Given the description of an element on the screen output the (x, y) to click on. 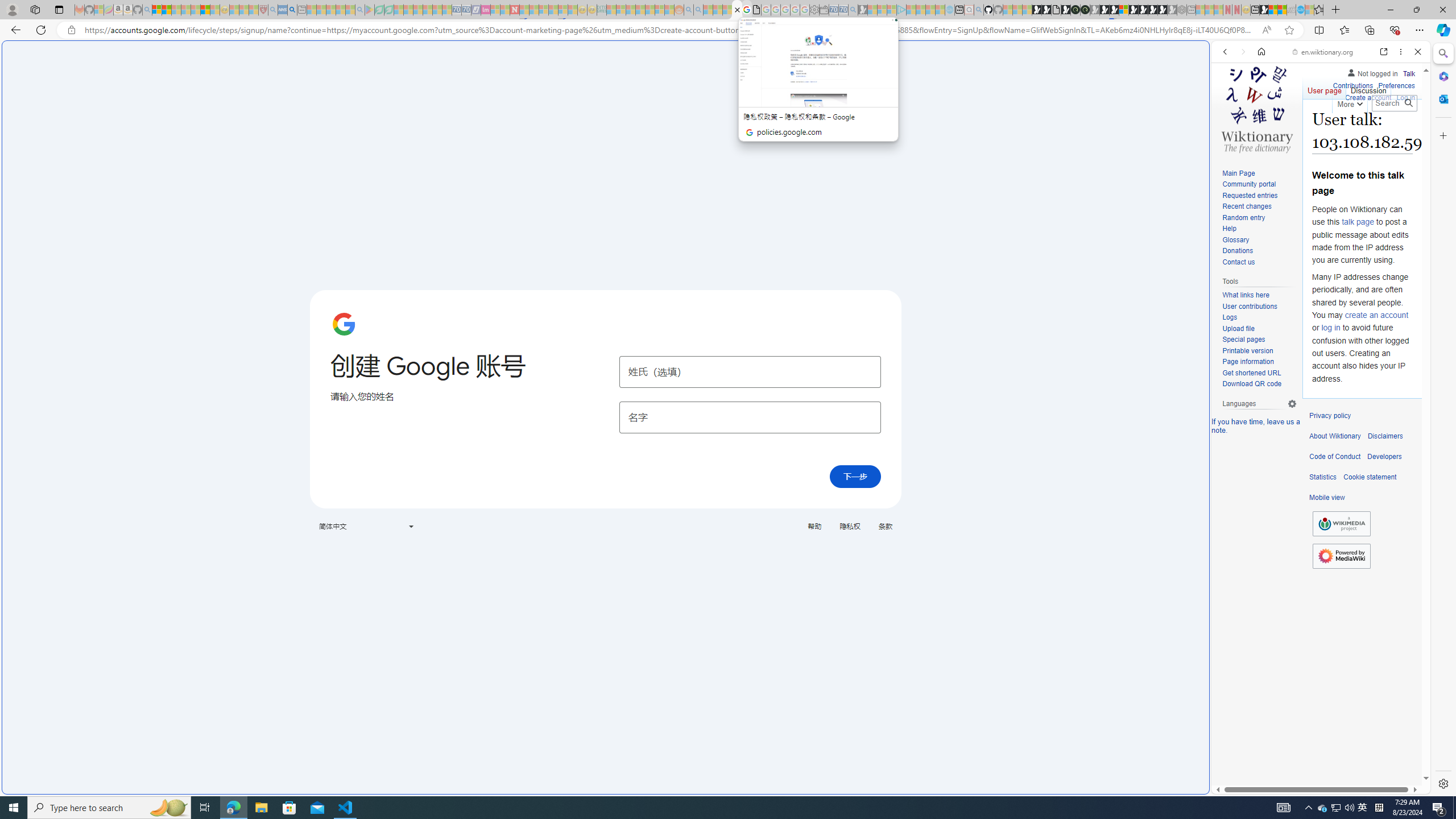
Download QR code (1251, 384)
Discussion (1367, 87)
Developers (1384, 456)
More (1349, 101)
